Given the description of an element on the screen output the (x, y) to click on. 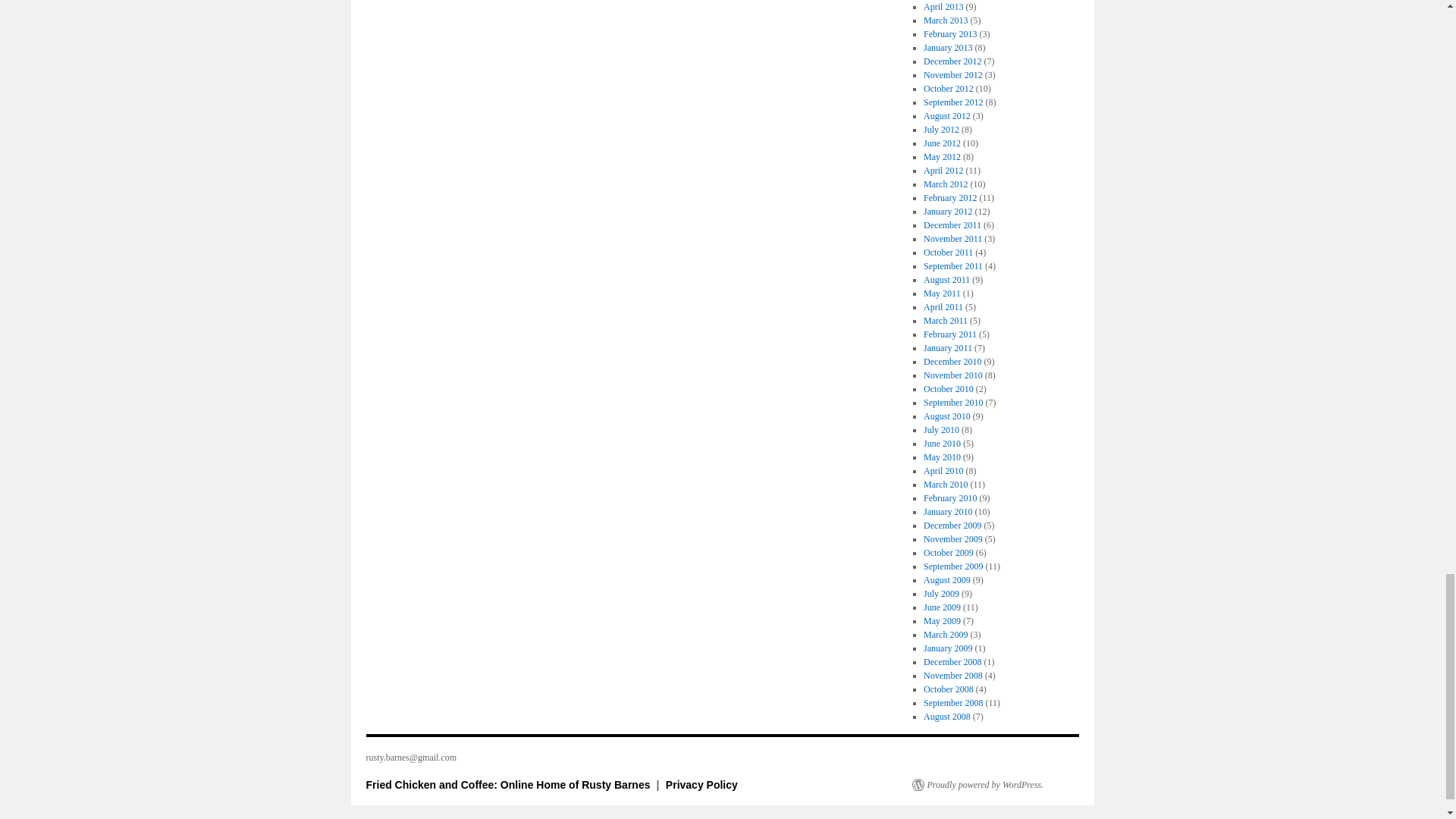
Semantic Personal Publishing Platform (977, 784)
